Given the description of an element on the screen output the (x, y) to click on. 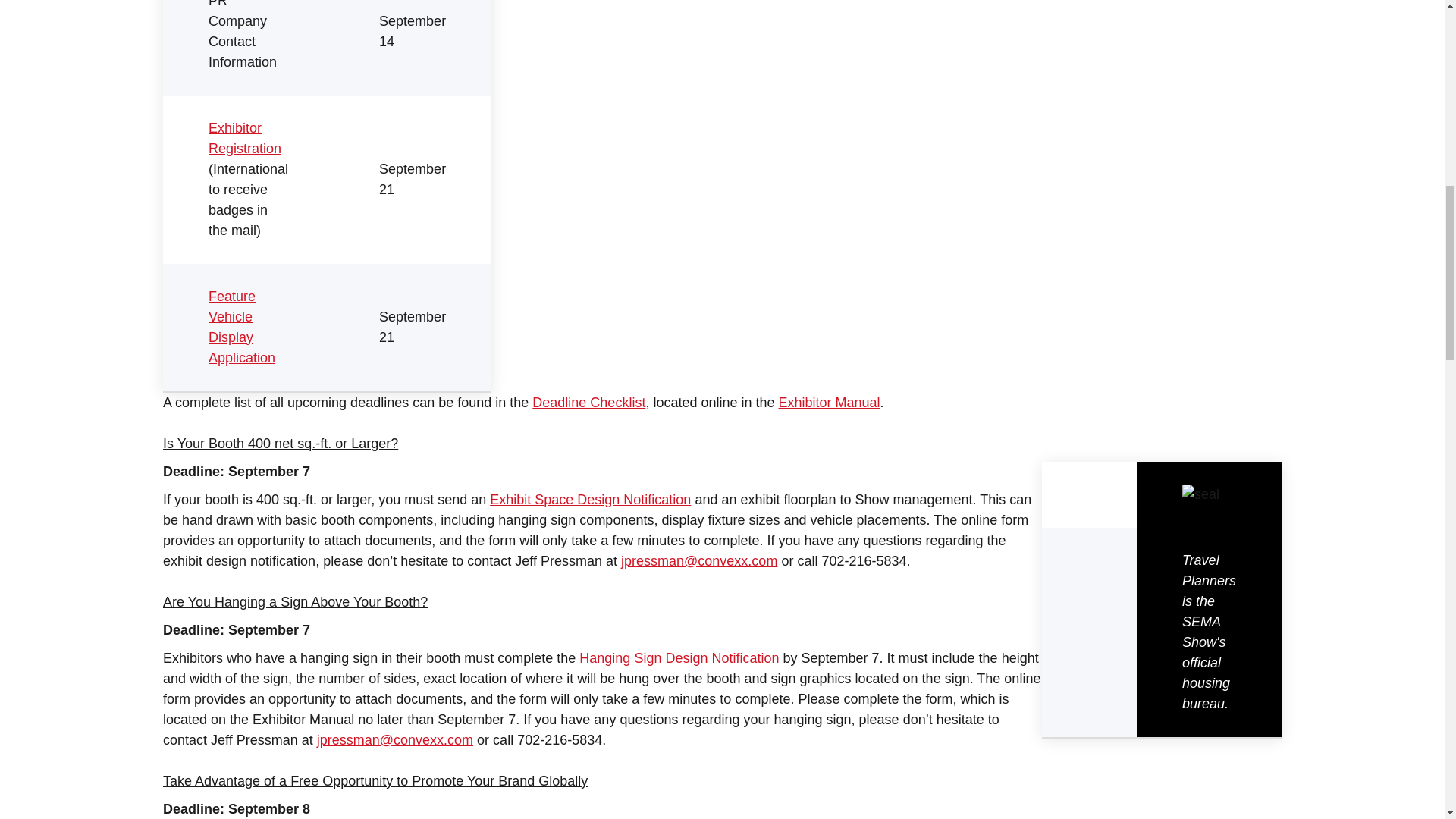
seal (1201, 494)
Exhibitor Manual (829, 402)
Deadline Checklist (588, 402)
Exhibitor Registration (244, 138)
